Given the description of an element on the screen output the (x, y) to click on. 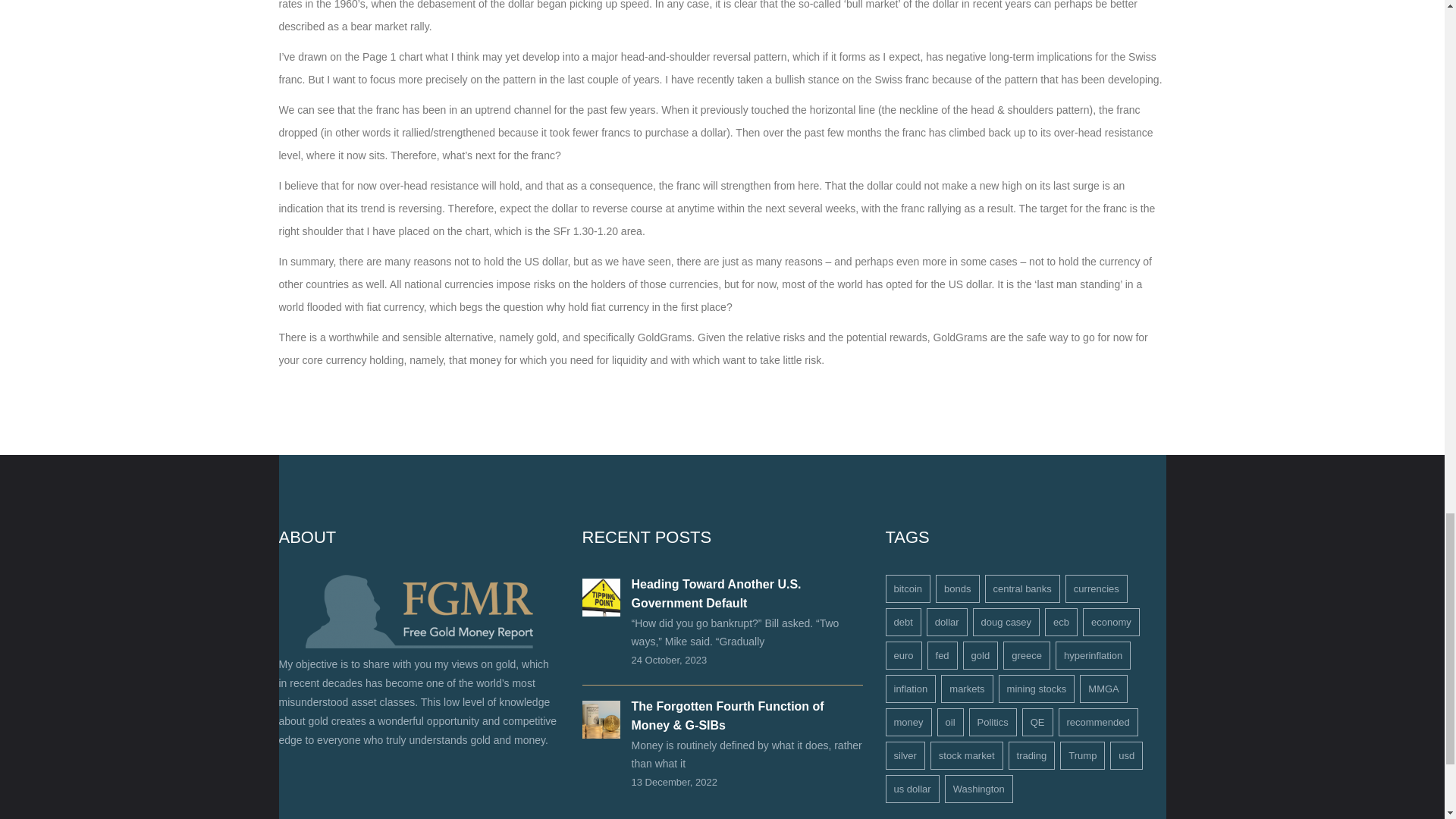
MMGA (1103, 688)
Politics (992, 722)
euro (903, 655)
hyperinflation (1093, 655)
doug casey (1006, 622)
oil (950, 722)
currencies (1095, 588)
QE (1037, 722)
fed (942, 655)
dollar (947, 622)
gold (980, 655)
greece (1026, 655)
money (908, 722)
economy (1111, 622)
mining stocks (1036, 688)
